Given the description of an element on the screen output the (x, y) to click on. 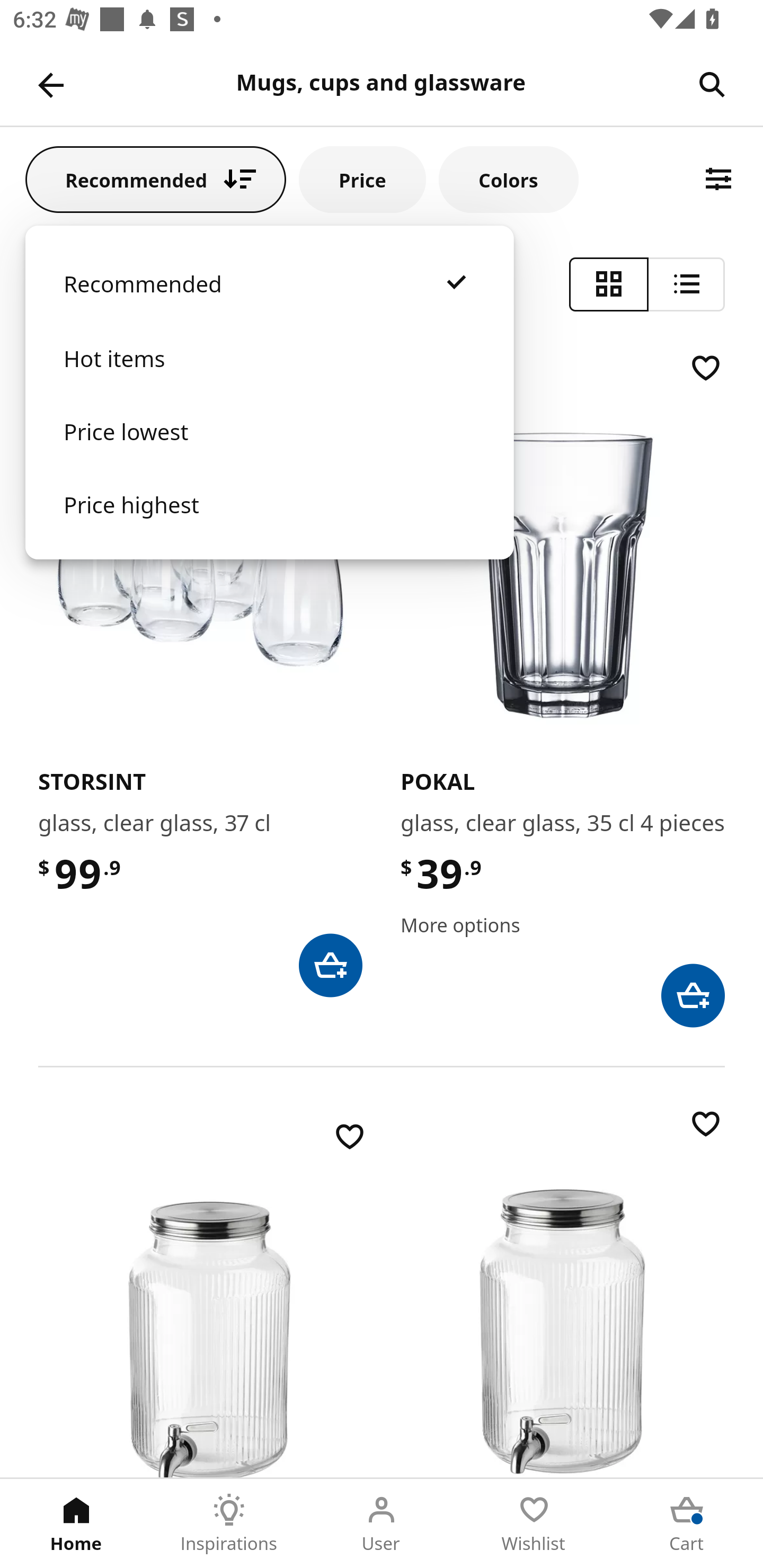
Recommended (155, 179)
Price (362, 179)
Colors (508, 179)
Recommended (269, 301)
Hot items (269, 376)
Price lowest (269, 449)
Price highest (269, 522)
​V​A​R​D​A​G​E​N​
jar with tap, 5.0 l
$
149
.9 (562, 1291)
​V​A​R​D​A​G​E​N​
jar with tap, 5.0 l
$
149
.9 (209, 1297)
Home
Tab 1 of 5 (76, 1522)
Inspirations
Tab 2 of 5 (228, 1522)
User
Tab 3 of 5 (381, 1522)
Wishlist
Tab 4 of 5 (533, 1522)
Cart
Tab 5 of 5 (686, 1522)
